Given the description of an element on the screen output the (x, y) to click on. 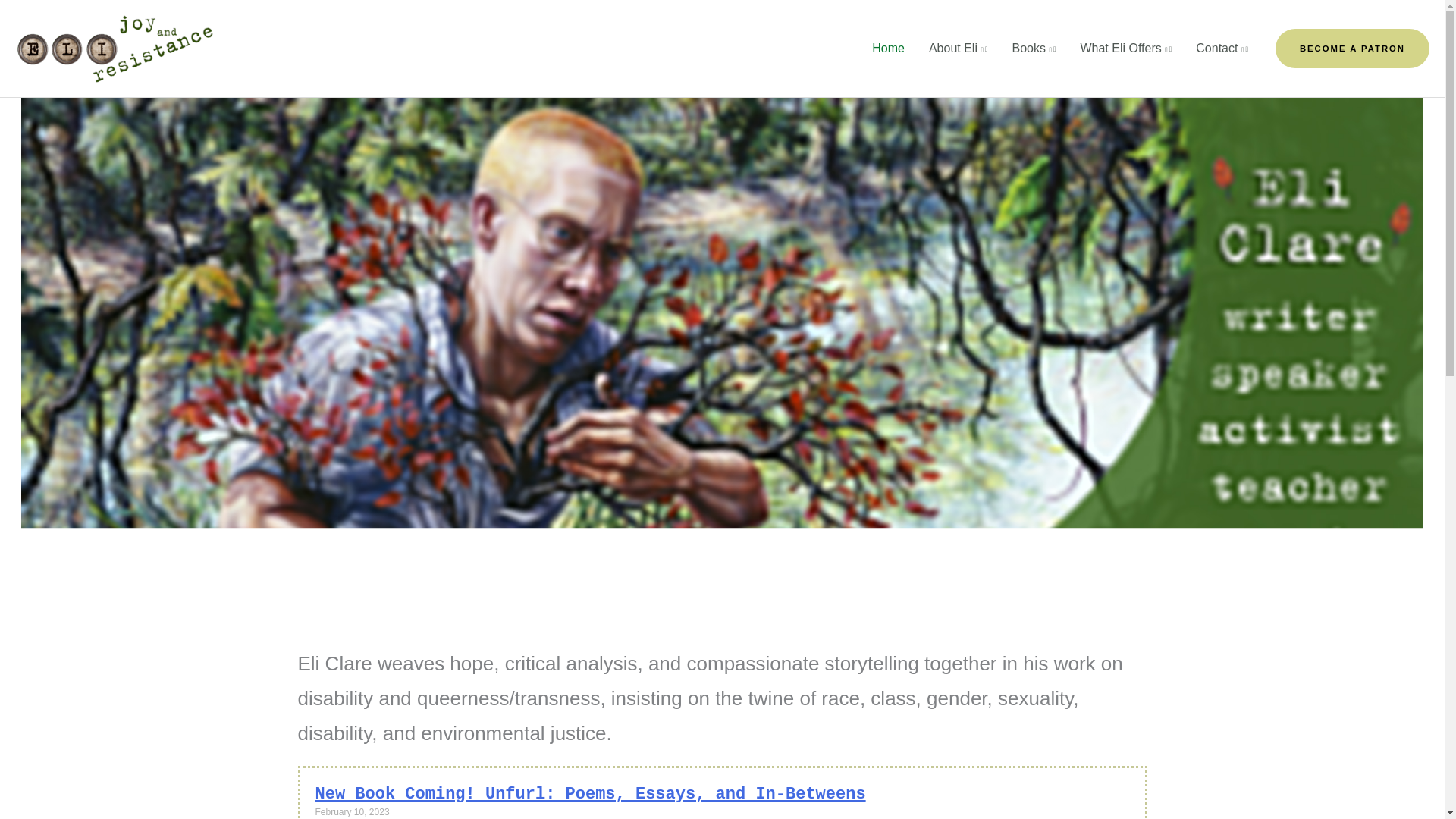
Home (888, 48)
About Eli (958, 48)
Contact (1221, 48)
BECOME A PATRON (1352, 48)
Books (1032, 48)
What Eli Offers (1125, 48)
